Given the description of an element on the screen output the (x, y) to click on. 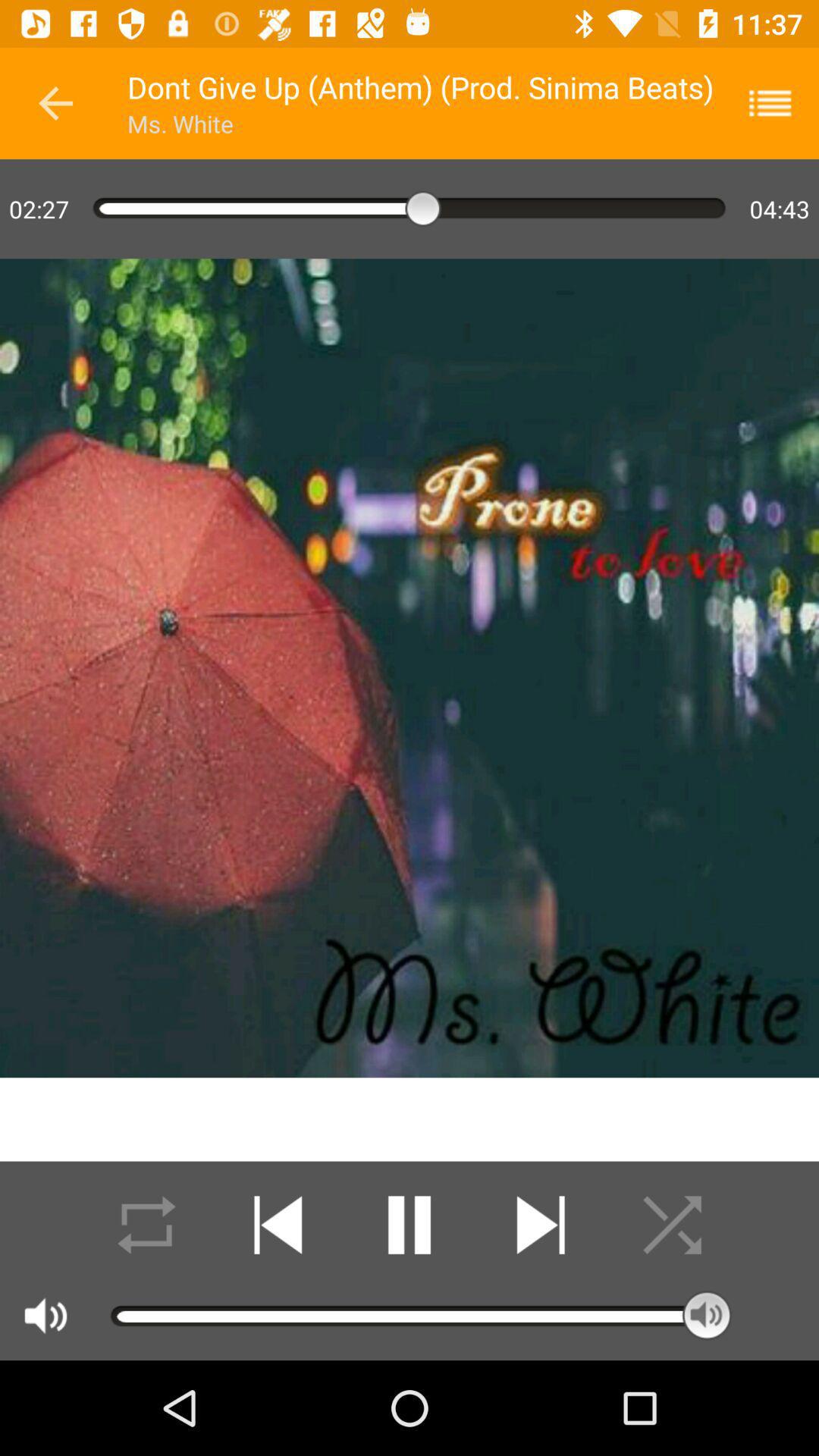
backfoward (277, 1224)
